Given the description of an element on the screen output the (x, y) to click on. 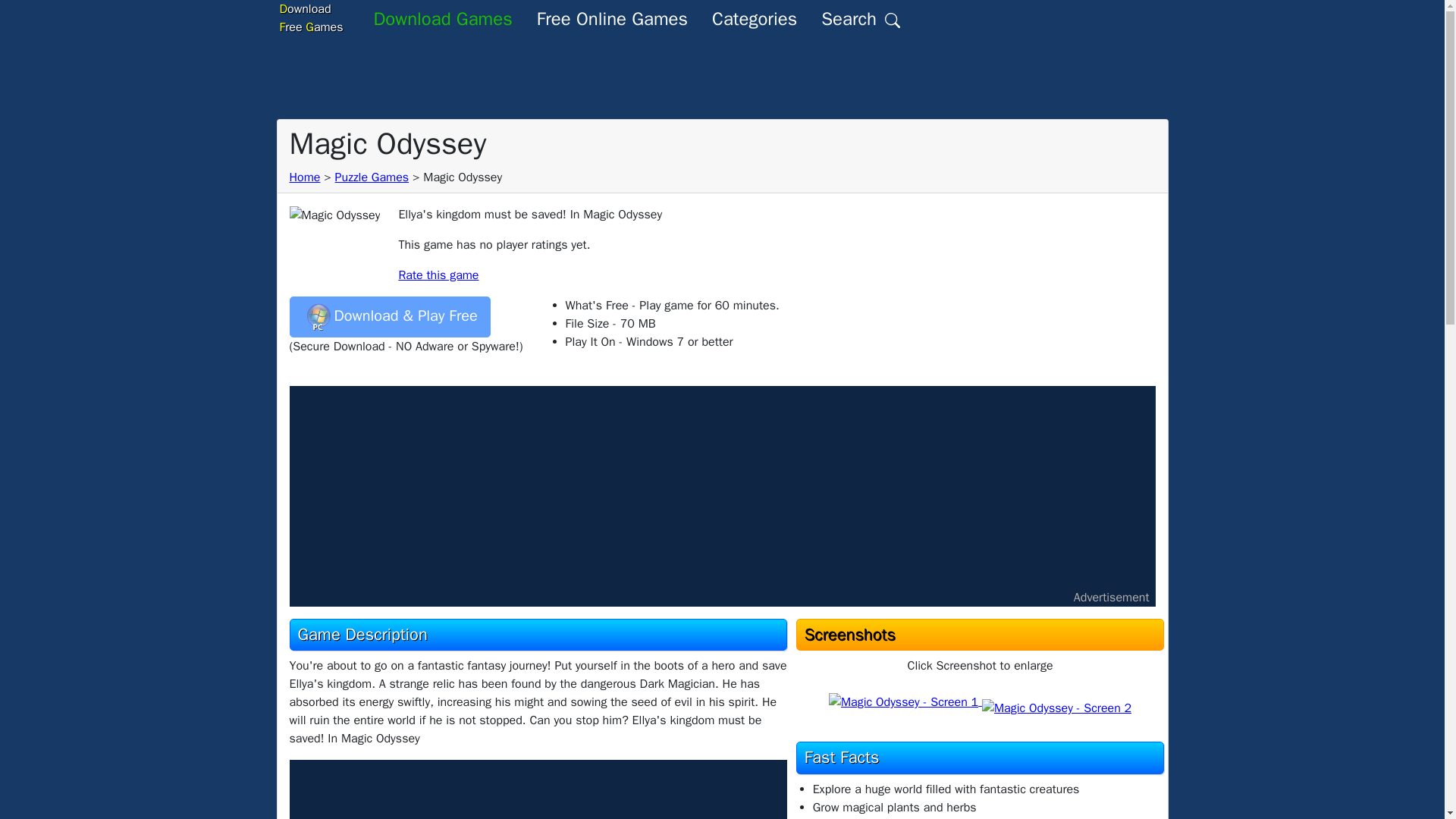
Magic Odyssey- Screen 2 (1056, 708)
Categories (754, 18)
Free Online Games (612, 18)
Home (304, 177)
Search (860, 18)
Download Games (310, 18)
Puzzle Games (442, 18)
Magic Odyssey - Screen 1 (371, 177)
Magic Odyssey (903, 701)
